Given the description of an element on the screen output the (x, y) to click on. 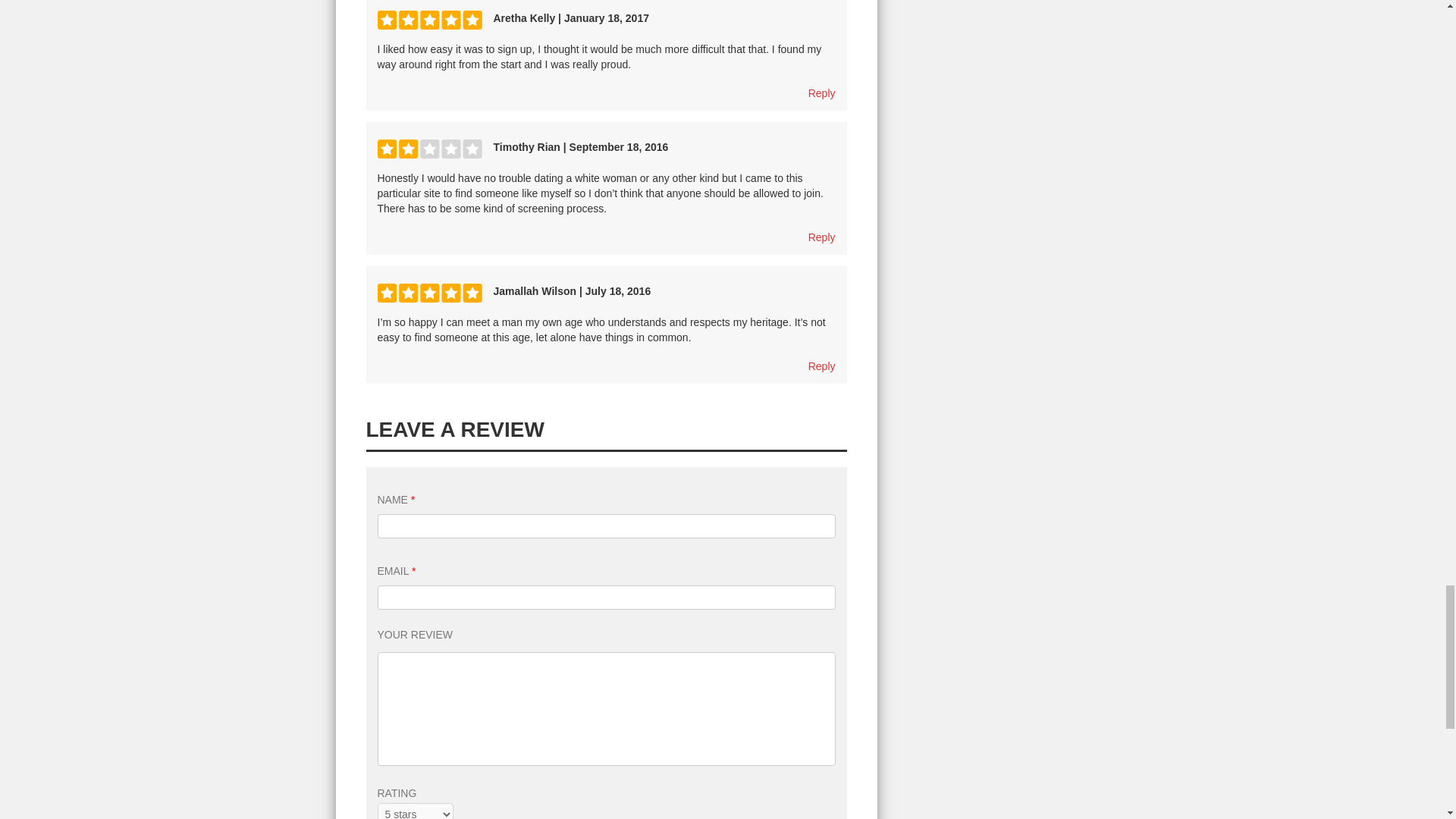
Reply (821, 92)
Reply (821, 236)
Reply (821, 366)
